Given the description of an element on the screen output the (x, y) to click on. 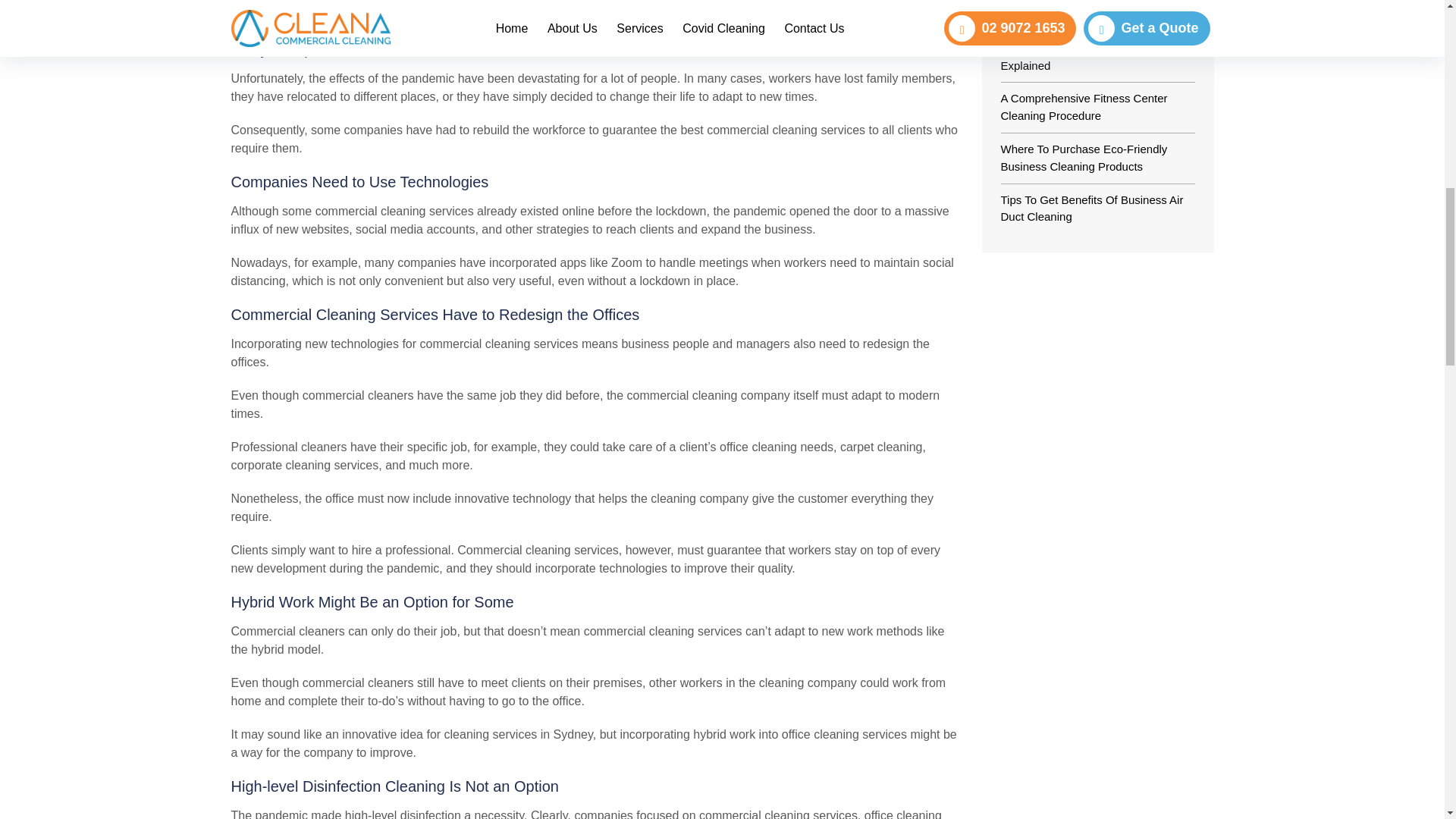
Sydney COVID Cleaning Services Explained (1087, 56)
Tips To Get Benefits Of Business Air Duct Cleaning (1092, 208)
Where To Purchase Eco-Friendly Business Cleaning Products (1084, 157)
A Comprehensive Fitness Center Cleaning Procedure (1084, 106)
